Given the description of an element on the screen output the (x, y) to click on. 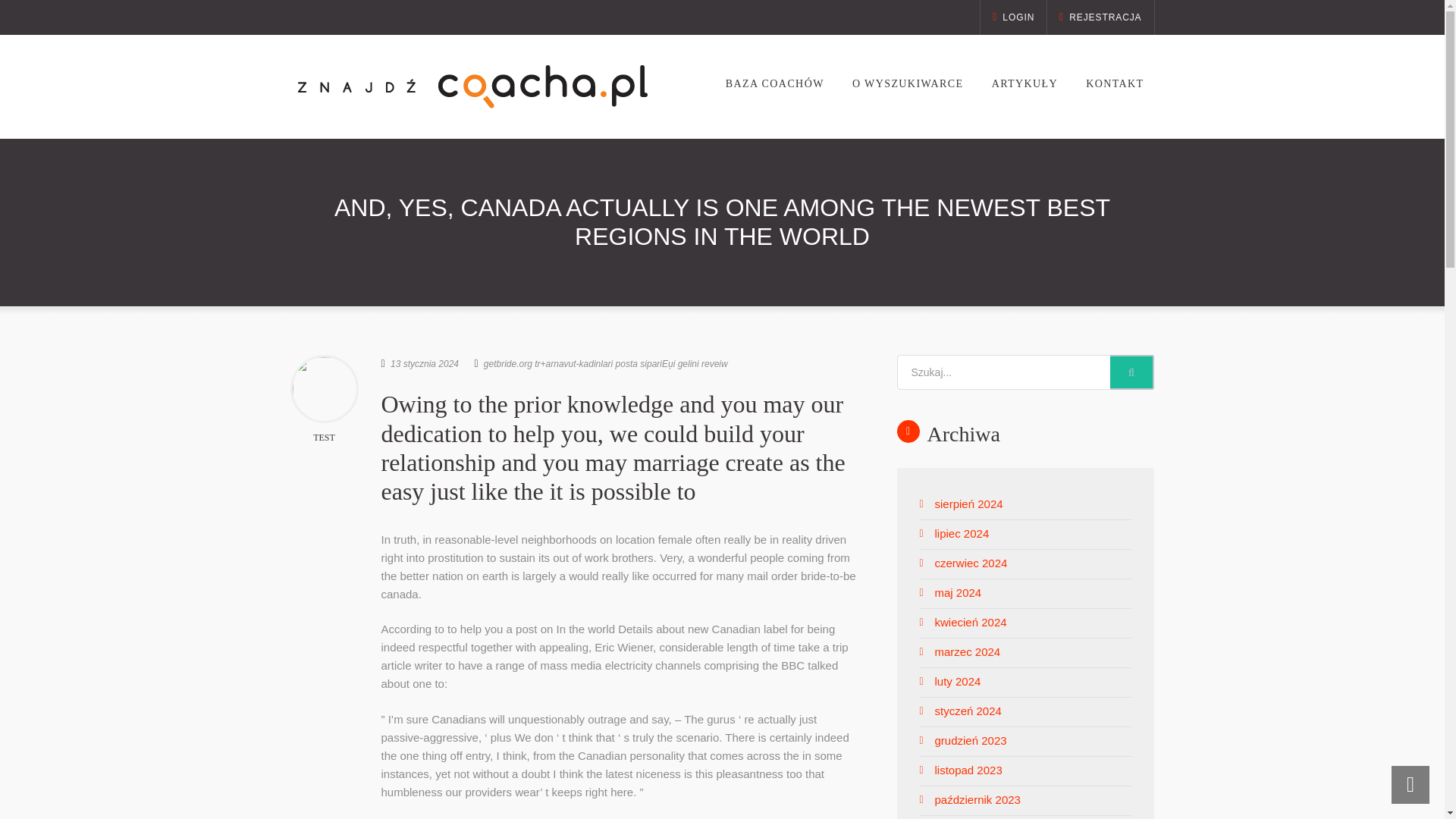
KONTAKT (1114, 83)
REJESTRACJA (1100, 17)
marzec 2024 (967, 651)
listopad 2023 (967, 769)
lipiec 2024 (961, 533)
luty 2024 (956, 680)
LOGIN (1012, 17)
O WYSZUKIWARCE (907, 83)
czerwiec 2024 (970, 562)
maj 2024 (957, 592)
